Given the description of an element on the screen output the (x, y) to click on. 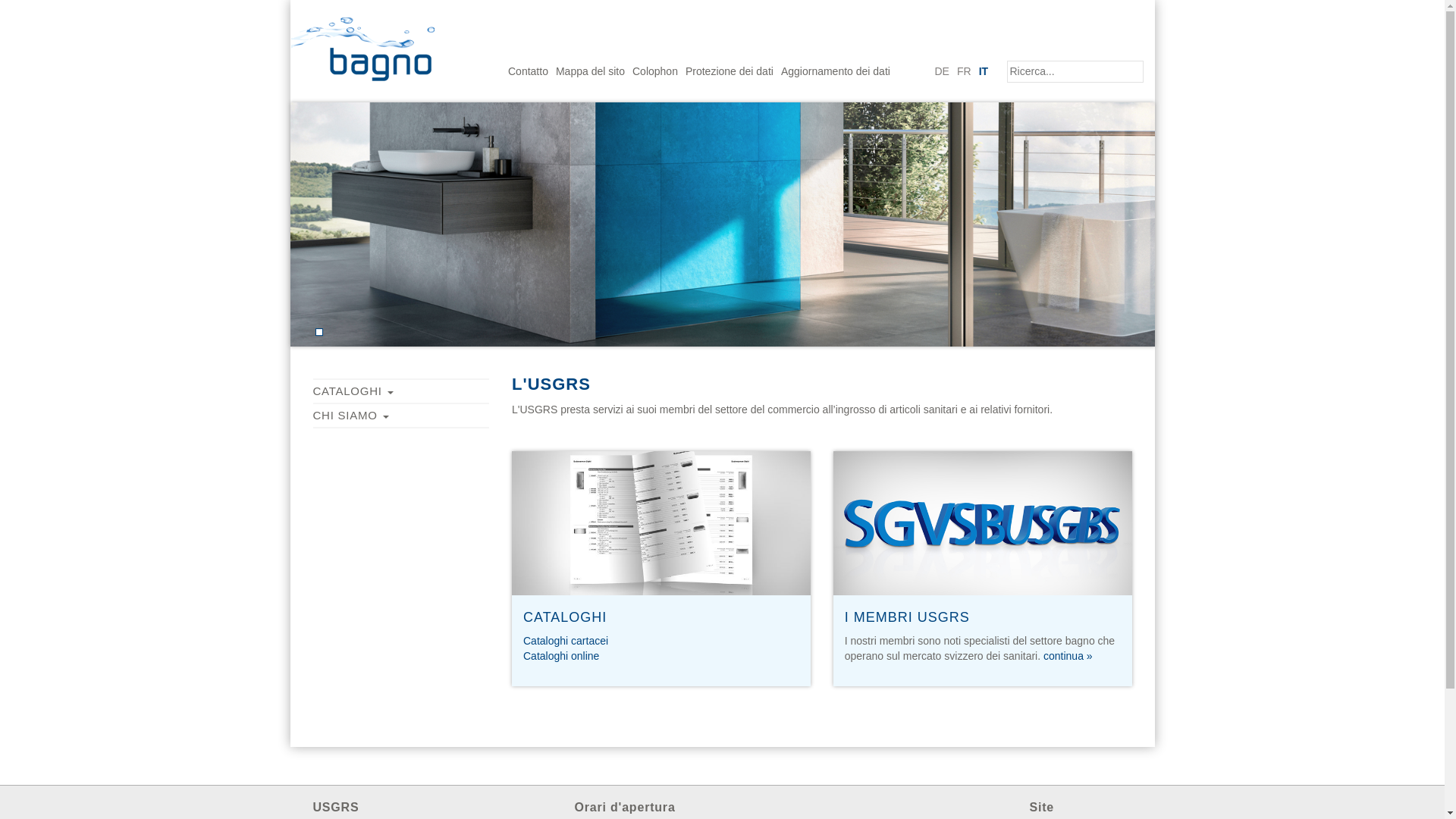
Ricerca Element type: hover (1075, 71)
Contatto Element type: text (528, 70)
Protezione dei dati Element type: text (729, 70)
CATALOGHI Element type: text (564, 616)
DE Element type: text (942, 70)
Aggiornamento dei dati Element type: text (835, 70)
Cataloghi online Element type: text (561, 655)
Mappa del sito Element type: text (590, 70)
CATALOGHI  Element type: text (397, 390)
1 Element type: text (317, 331)
I MEMBRI USGRS Element type: text (906, 616)
IT Element type: text (983, 70)
Cataloghi cartacei Element type: text (565, 640)
bagno - USGBS - Home Element type: hover (367, 40)
Colophon Element type: text (654, 70)
CHI SIAMO  Element type: text (397, 415)
FR Element type: text (964, 70)
